Given the description of an element on the screen output the (x, y) to click on. 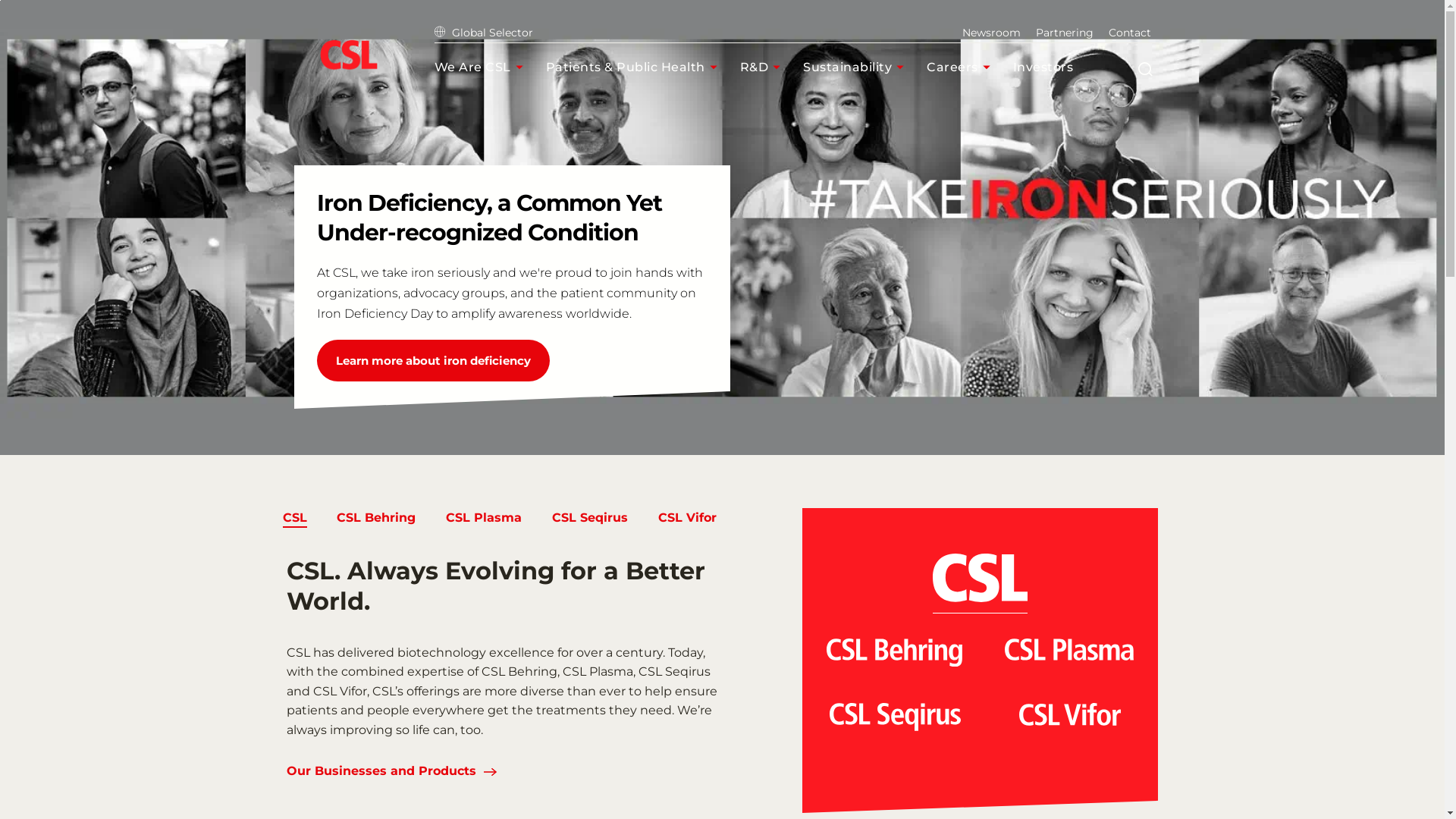
Investors Element type: text (1053, 67)
Newsroom Element type: text (990, 32)
Global Selector Element type: text (482, 32)
Sustainability Element type: text (857, 67)
Skip to main content Element type: text (0, 0)
R&D Element type: text (764, 67)
Contact Element type: text (1129, 32)
Patients & Public Health Element type: text (635, 67)
We Are CSL Element type: text (481, 67)
Our Businesses and Products Element type: text (381, 771)
Careers Element type: text (961, 67)
Learn more about iron deficiency Element type: text (432, 360)
Partnering Element type: text (1064, 32)
